Given the description of an element on the screen output the (x, y) to click on. 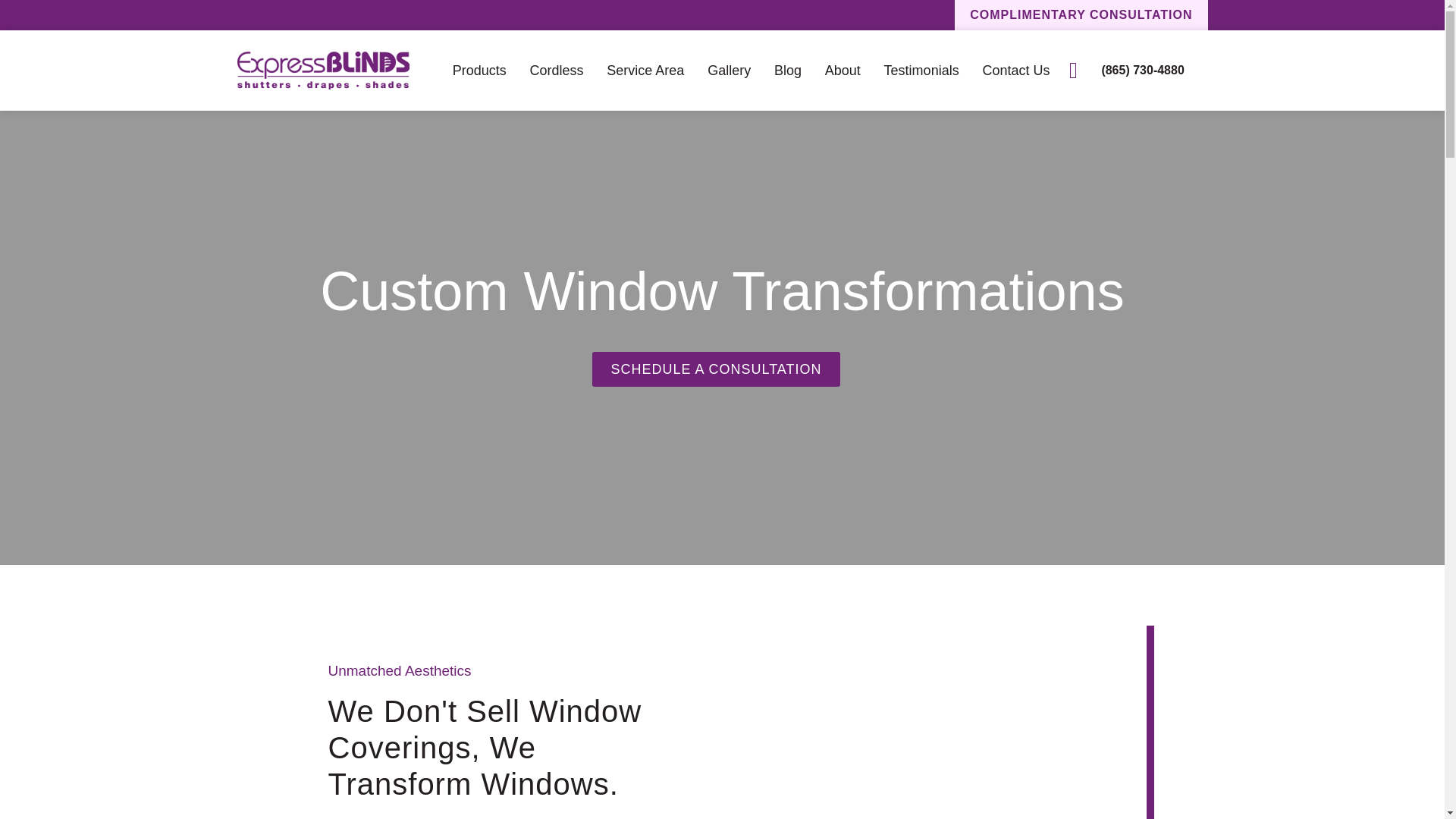
About (842, 70)
Blog (788, 70)
COMPLIMENTARY CONSULTATION (1081, 15)
Service Area (645, 70)
Products (479, 70)
Cordless (556, 70)
Gallery (729, 70)
Contact Us (1016, 70)
Testimonials (920, 70)
